Given the description of an element on the screen output the (x, y) to click on. 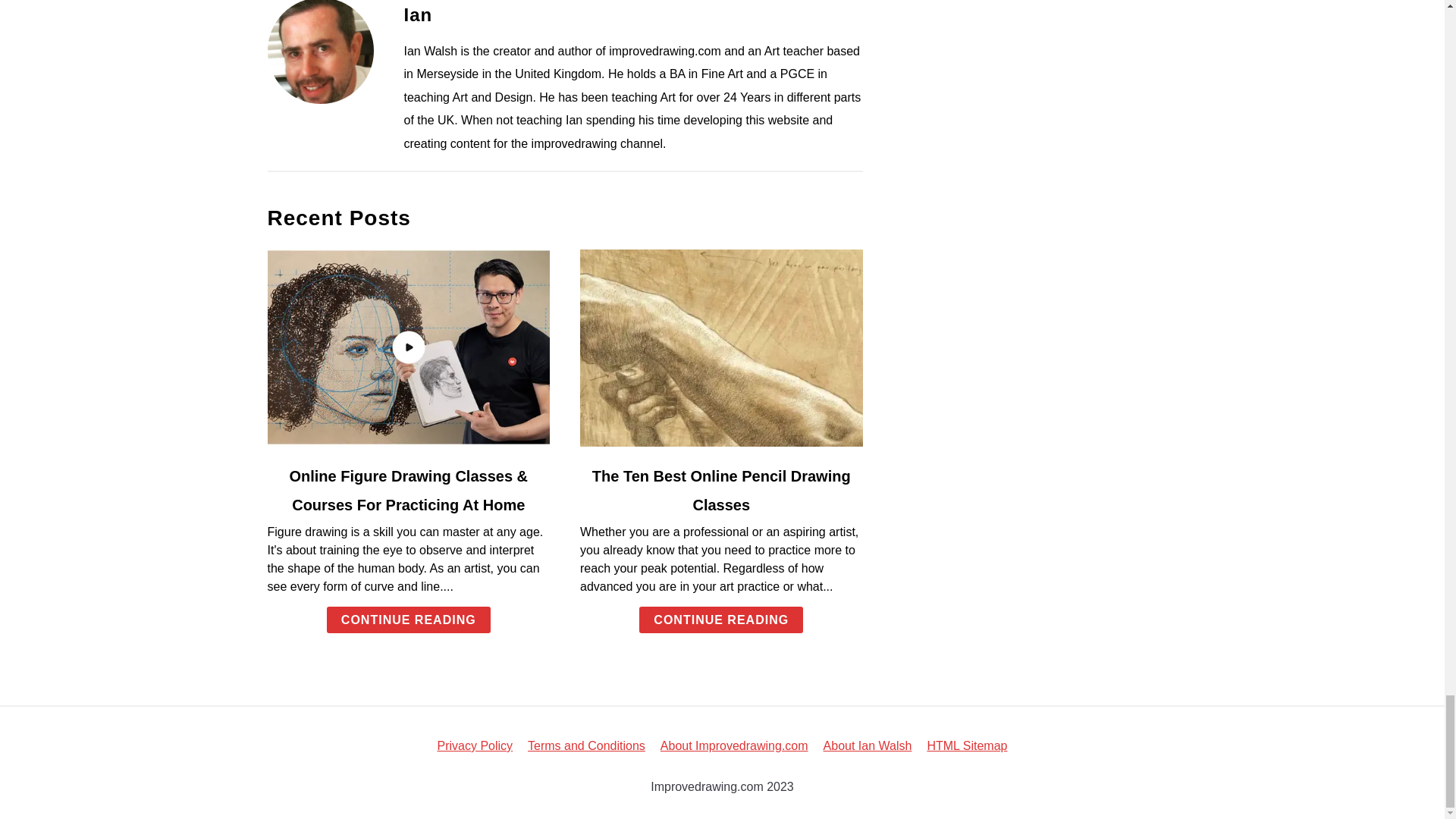
CONTINUE READING (408, 619)
link to The Ten Best Online Pencil Drawing Classes (721, 347)
Ian (417, 14)
The Ten Best Online Pencil Drawing Classes (721, 490)
